Given the description of an element on the screen output the (x, y) to click on. 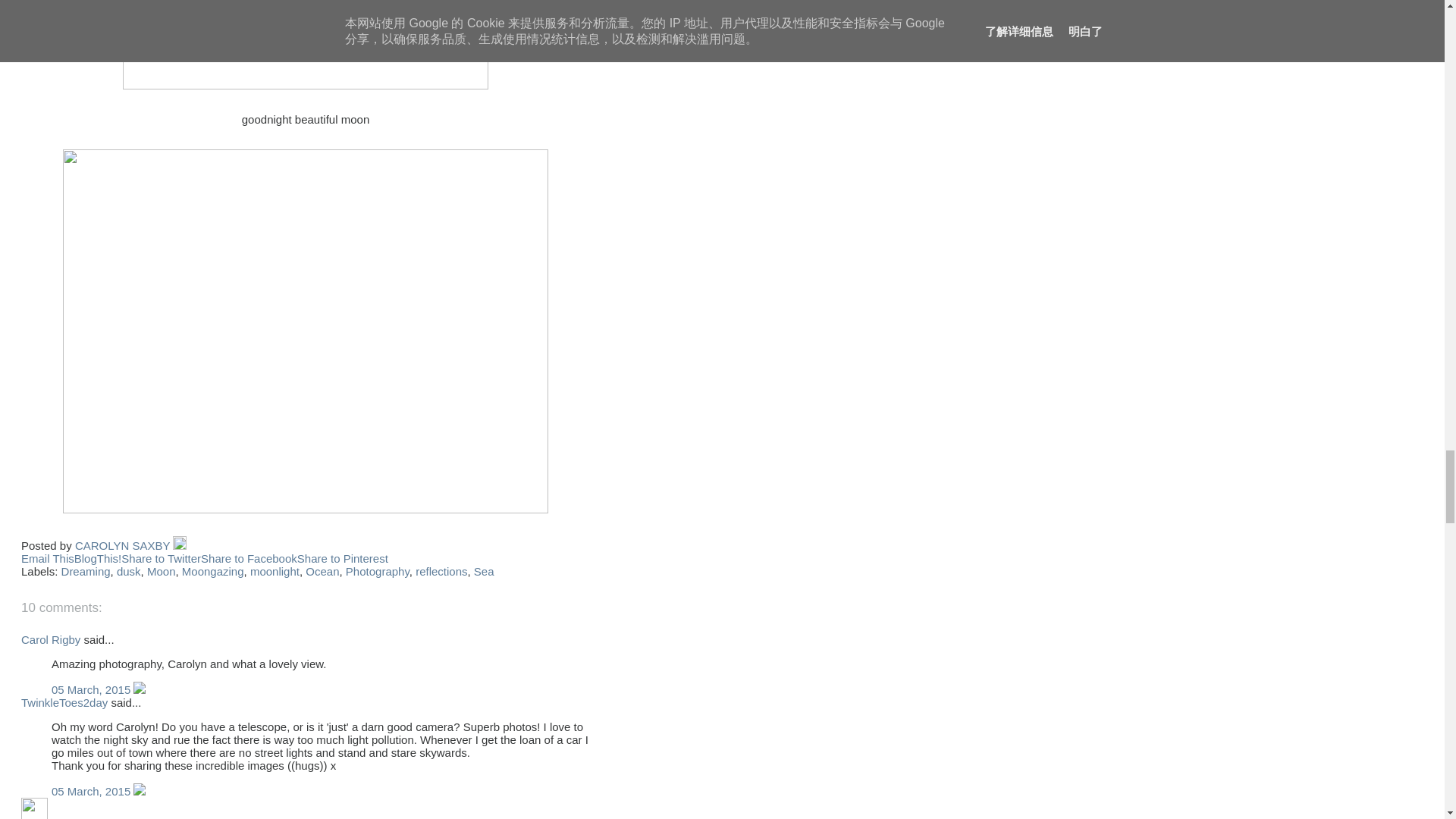
Email This (47, 558)
Erica (34, 808)
Moongazing (213, 571)
BlogThis! (98, 558)
Photography (377, 571)
Delete Comment (139, 790)
Moon (161, 571)
Share to Twitter (160, 558)
Carol Rigby (50, 639)
author profile (124, 545)
dusk (128, 571)
reflections (440, 571)
BlogThis! (98, 558)
CAROLYN SAXBY (124, 545)
Delete Comment (139, 689)
